Given the description of an element on the screen output the (x, y) to click on. 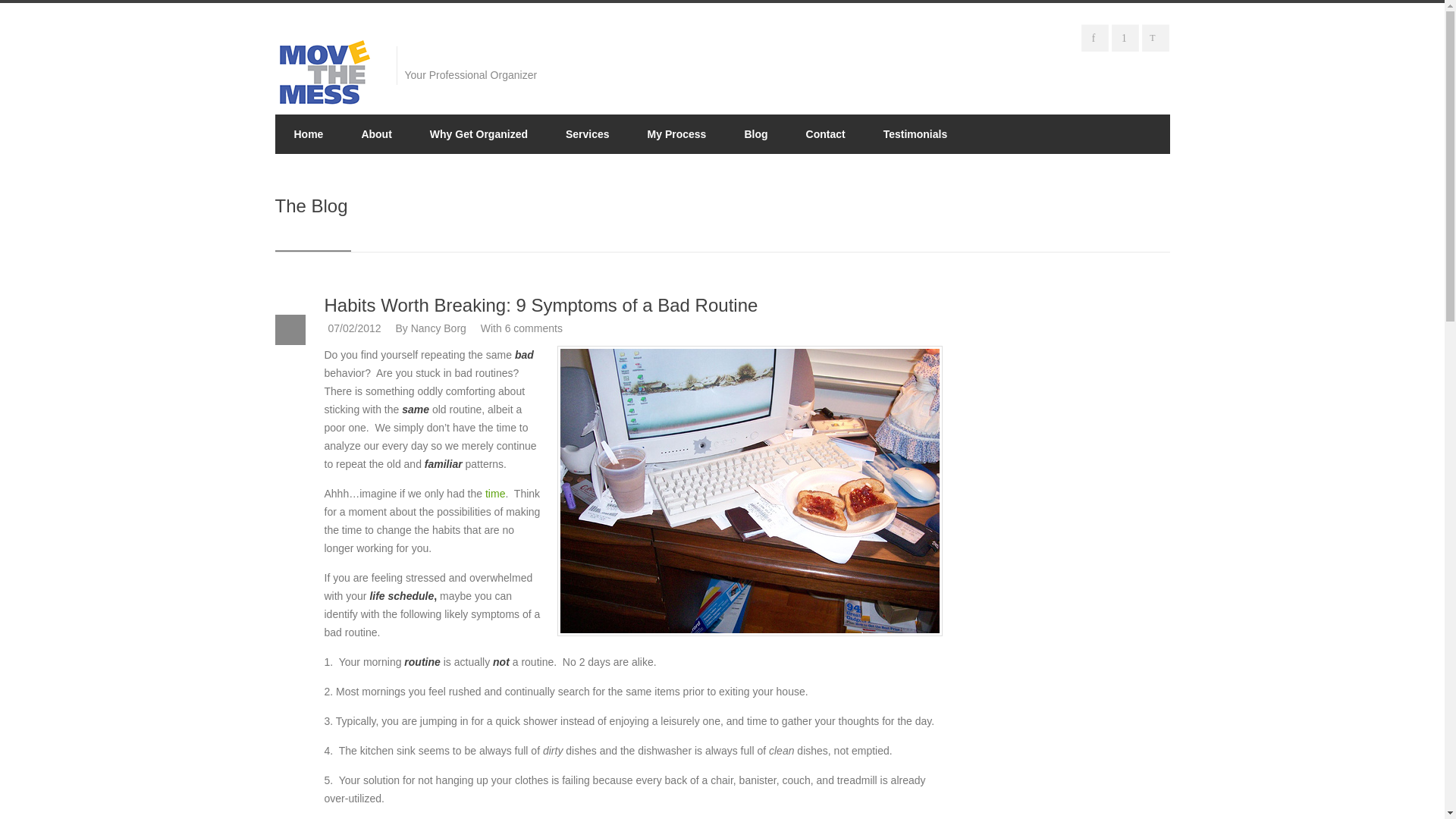
Blog (755, 133)
Why Get Organized (478, 133)
Services (587, 133)
pinterest (1127, 40)
Blog (755, 133)
time (494, 493)
My Process (676, 133)
twitter (1157, 40)
Habits Worth Breaking: 9 Symptoms of a Bad Routine (541, 304)
